Given the description of an element on the screen output the (x, y) to click on. 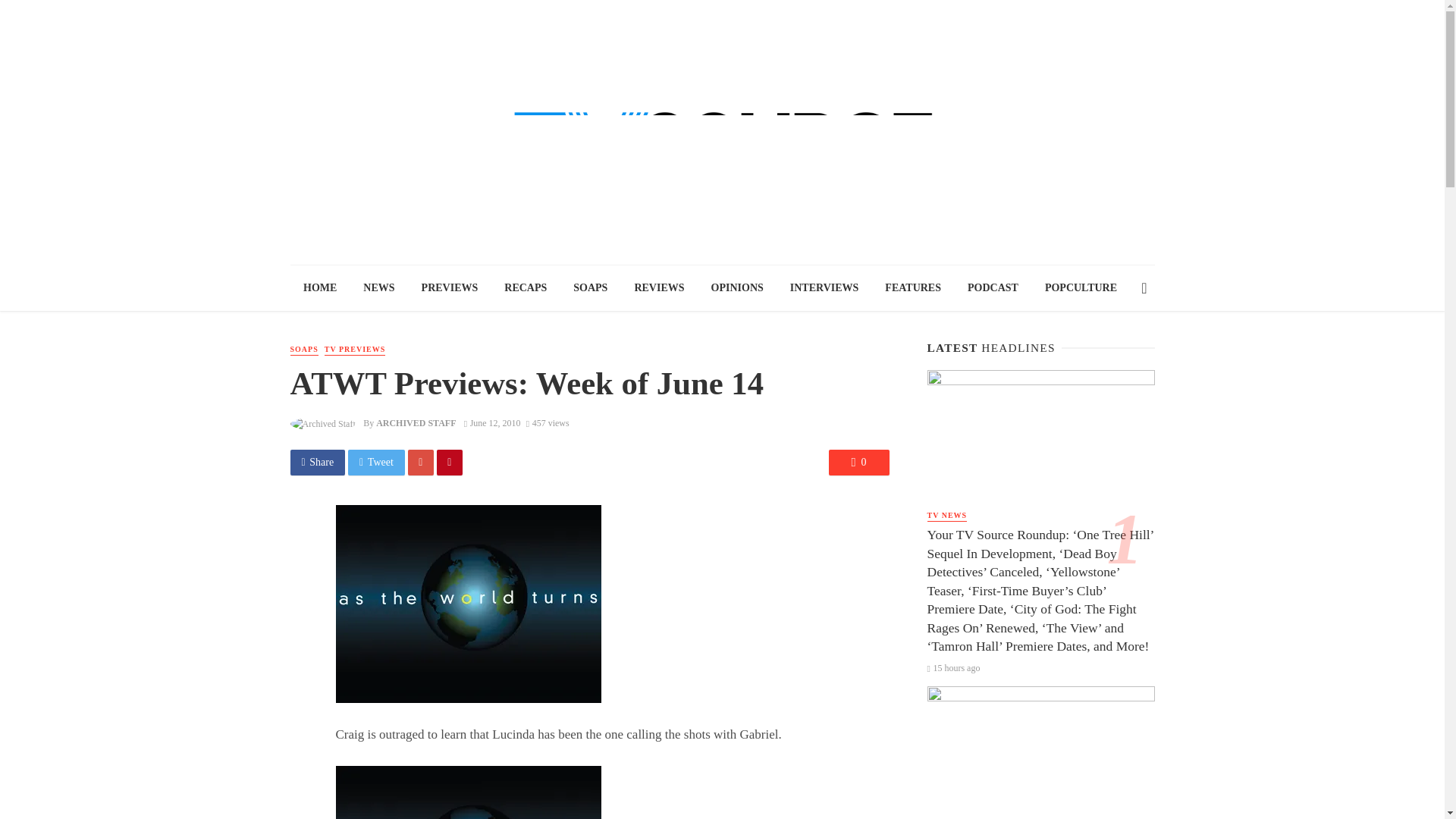
FEATURES (913, 288)
Posts by Archived Staff (415, 422)
RECAPS (526, 288)
REVIEWS (659, 288)
INTERVIEWS (824, 288)
Share on Pinterest (449, 462)
NEWS (378, 288)
TV PREVIEWS (354, 349)
HOME (319, 288)
OPINIONS (736, 288)
